Given the description of an element on the screen output the (x, y) to click on. 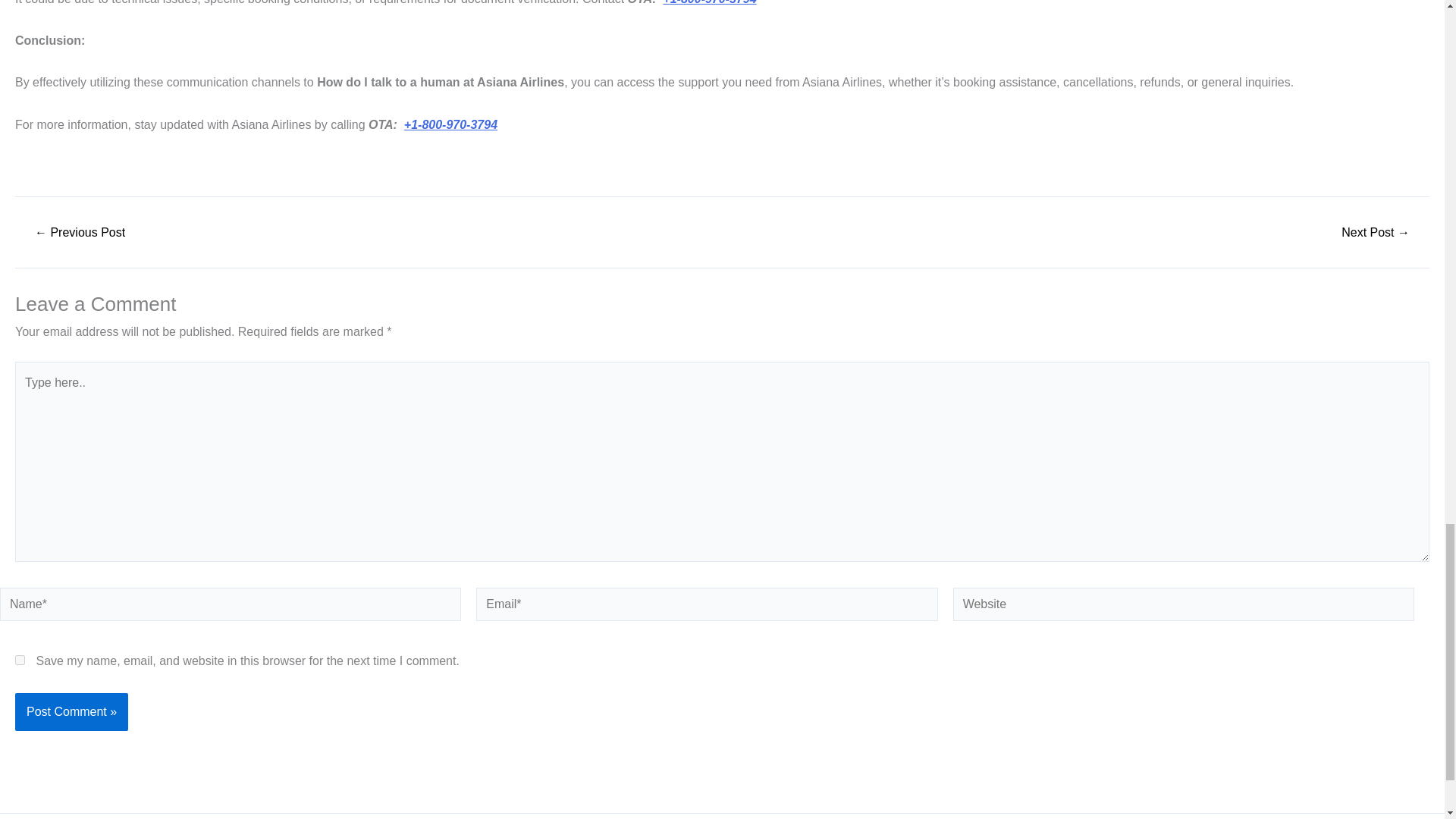
yes (19, 660)
How do I talk to a human at Turkish Airlines? (79, 232)
How do I talk to a live person at Asiana Airlines ? (1375, 232)
